Given the description of an element on the screen output the (x, y) to click on. 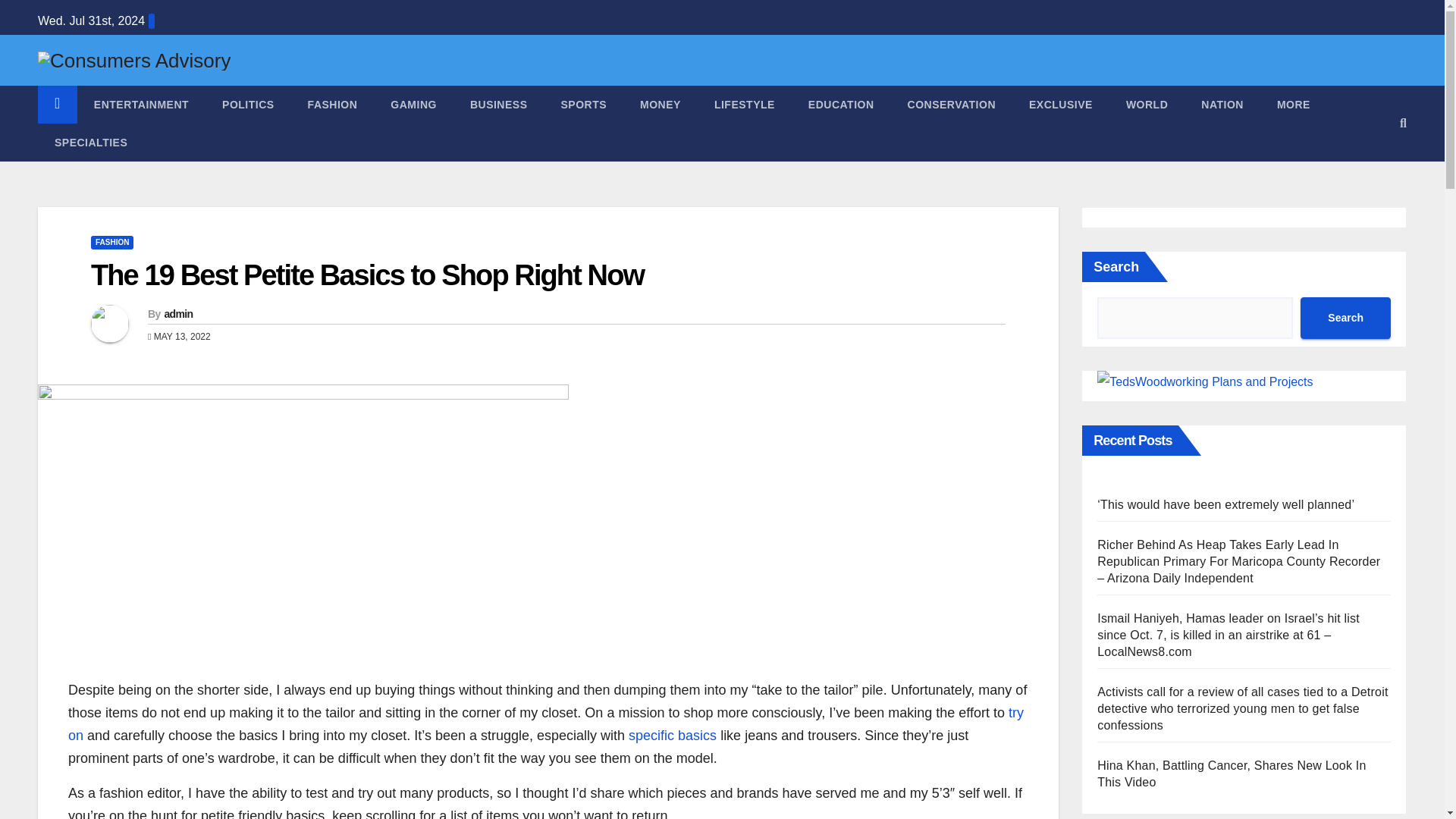
Politics (248, 104)
SPORTS (583, 104)
GAMING (413, 104)
LIFESTYLE (744, 104)
Fashion (332, 104)
EDUCATION (841, 104)
ENTERTAINMENT (141, 104)
BUSINESS (498, 104)
MONEY (660, 104)
FASHION (332, 104)
POLITICS (248, 104)
Money (660, 104)
Lifestyle (744, 104)
Entertainment (141, 104)
Education (841, 104)
